Given the description of an element on the screen output the (x, y) to click on. 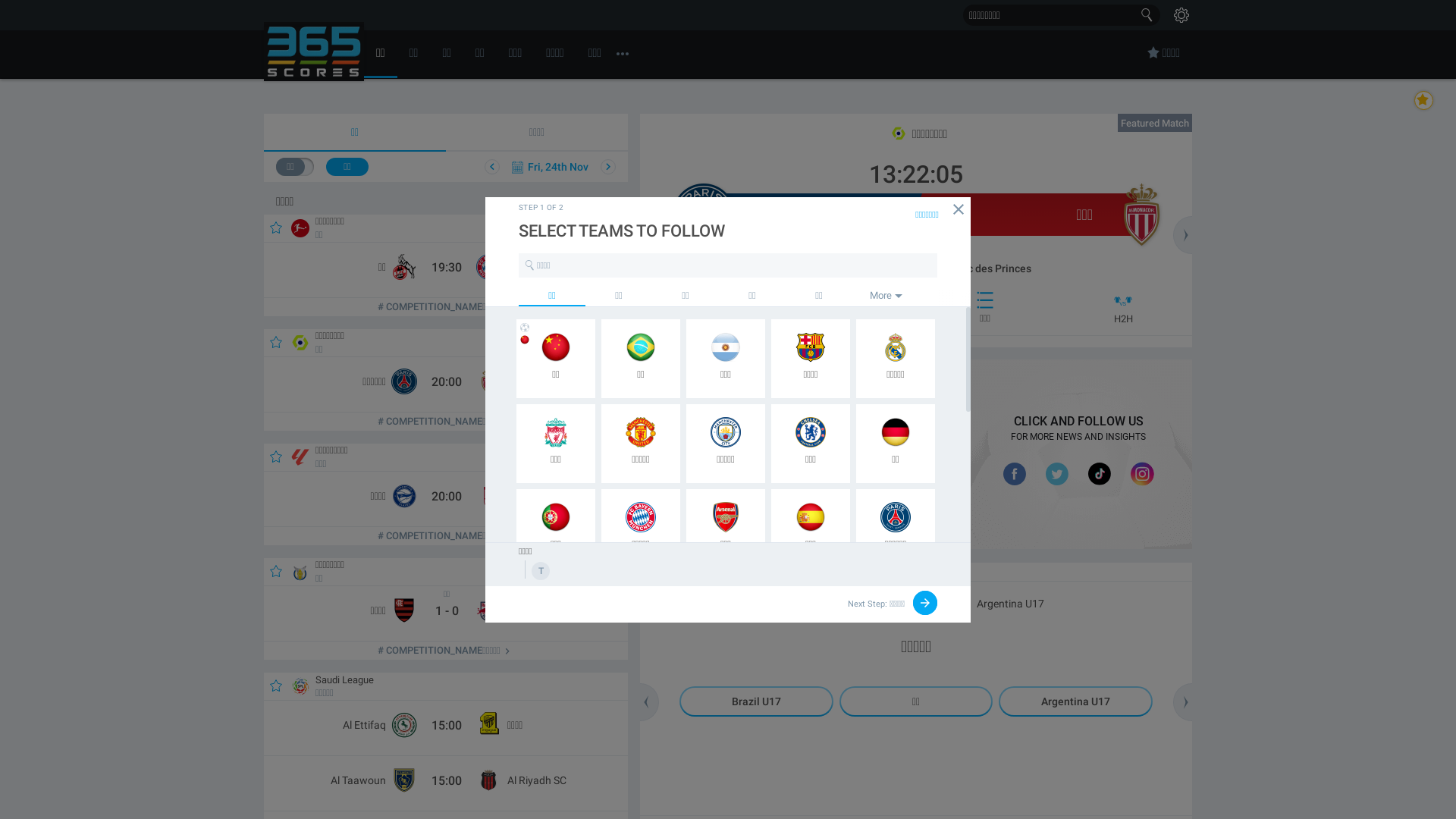
13:22:14 Element type: text (912, 169)
3rd party ad content Element type: hover (1078, 454)
Saudi League Element type: text (341, 678)
Al Taawoun
15:00
Al Riyadh SC Element type: text (443, 783)
H2H Element type: text (1120, 307)
U17 World Cup Element type: text (913, 571)
